Given the description of an element on the screen output the (x, y) to click on. 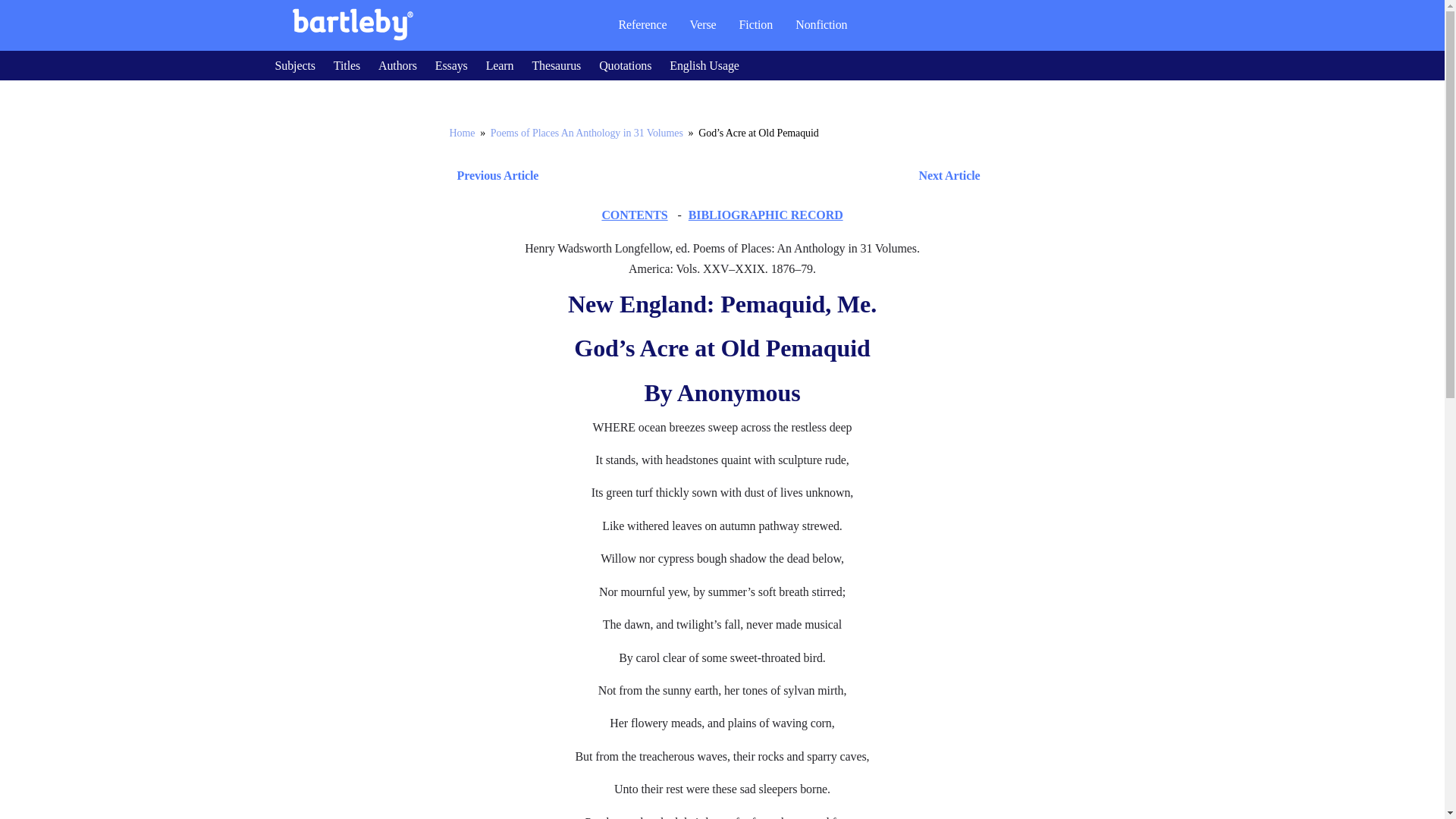
BIBLIOGRAPHIC RECORD (765, 214)
Poems of Places An Anthology in 31 Volumes (586, 132)
English Usage (704, 65)
Authors (397, 65)
Nonfiction (821, 24)
Quotations (624, 65)
Verse (702, 24)
Fiction (756, 24)
Home (461, 132)
CONTENTS (633, 214)
Essays (451, 65)
Thesaurus (555, 65)
Learn (499, 65)
Previous Article (493, 175)
